Given the description of an element on the screen output the (x, y) to click on. 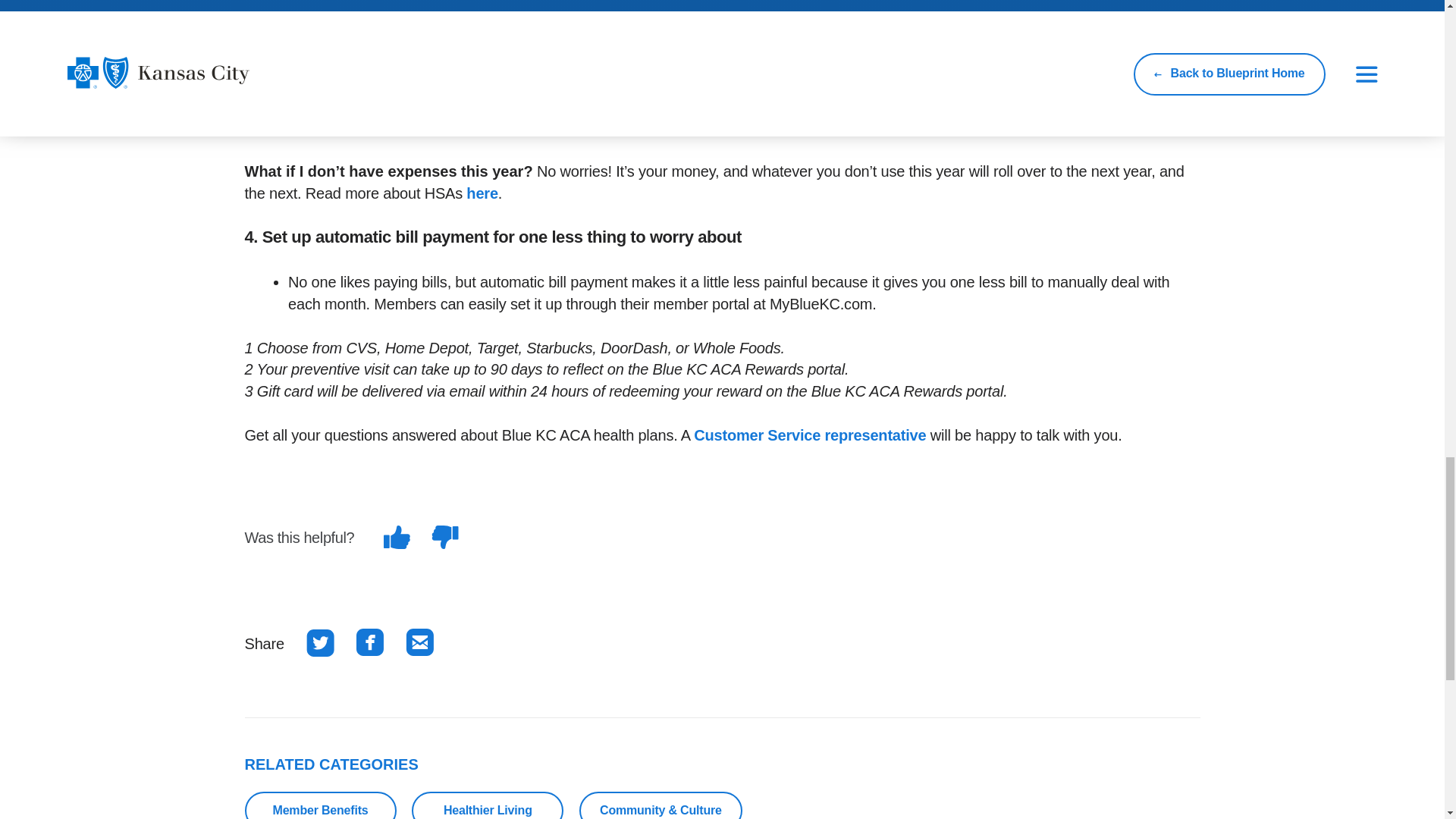
here (481, 193)
Customer Service representative (810, 435)
Member Benefits (320, 805)
Healthier Living (487, 805)
